Given the description of an element on the screen output the (x, y) to click on. 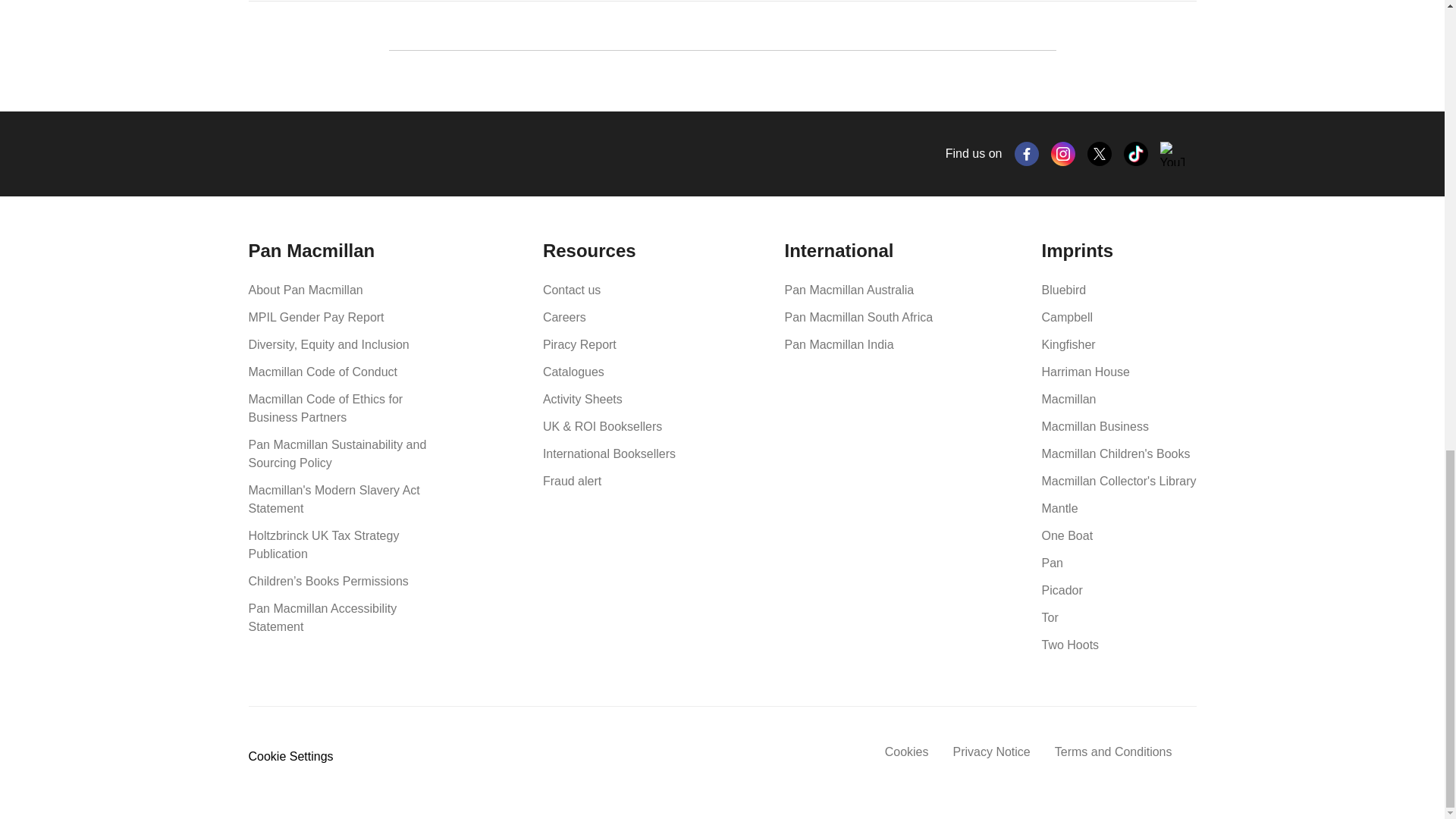
Instagram (1063, 153)
TikTok (1136, 153)
YouTube (1172, 153)
Facebook (1026, 153)
